Given the description of an element on the screen output the (x, y) to click on. 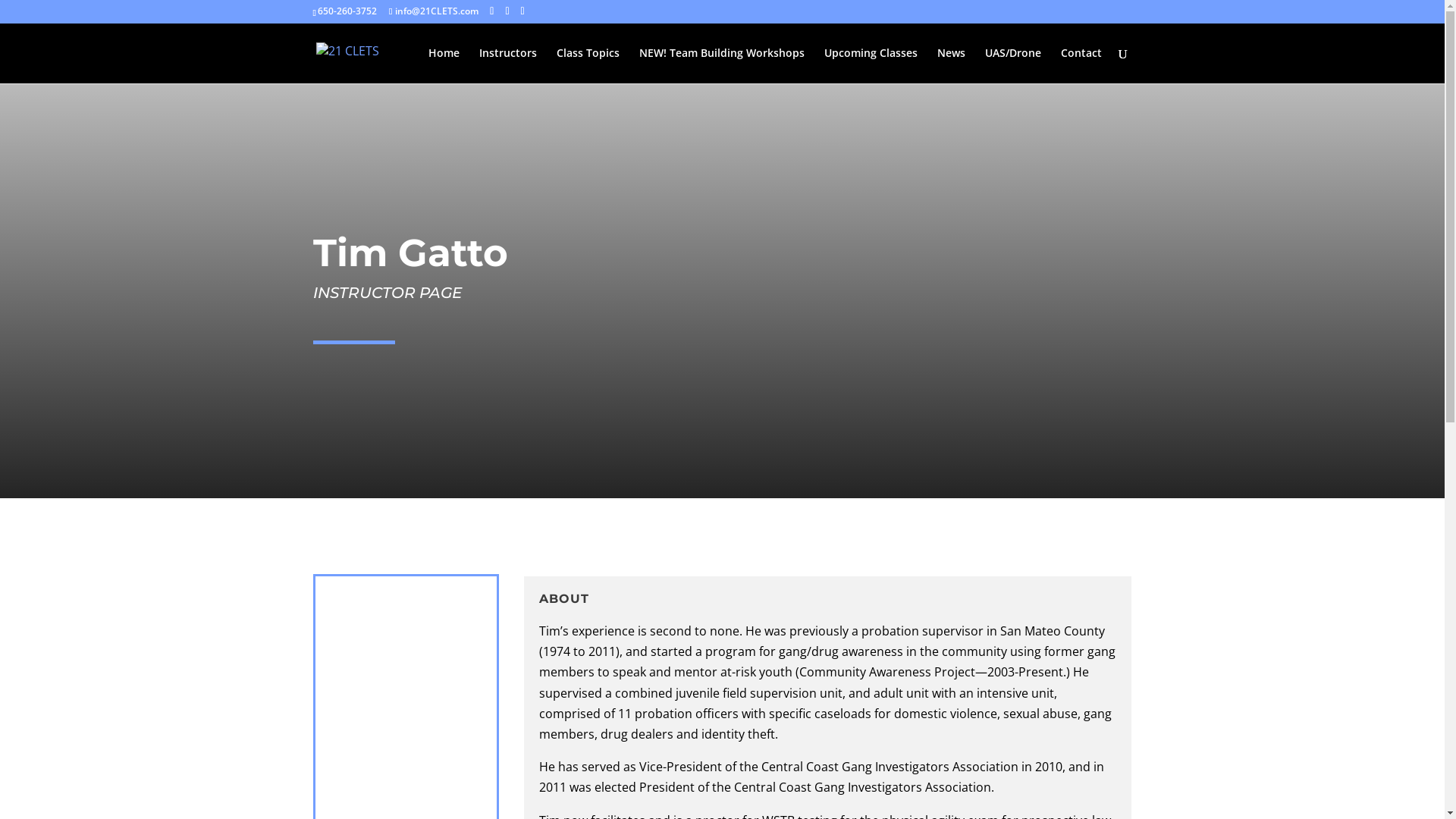
NEW! Team Building Workshops Element type: text (720, 65)
Home Element type: text (442, 65)
Upcoming Classes Element type: text (869, 65)
News Element type: text (951, 65)
Instructors Element type: text (507, 65)
Contact Element type: text (1080, 65)
info@21CLETS.com Element type: text (433, 10)
UAS/Drone Element type: text (1012, 65)
Class Topics Element type: text (587, 65)
